Given the description of an element on the screen output the (x, y) to click on. 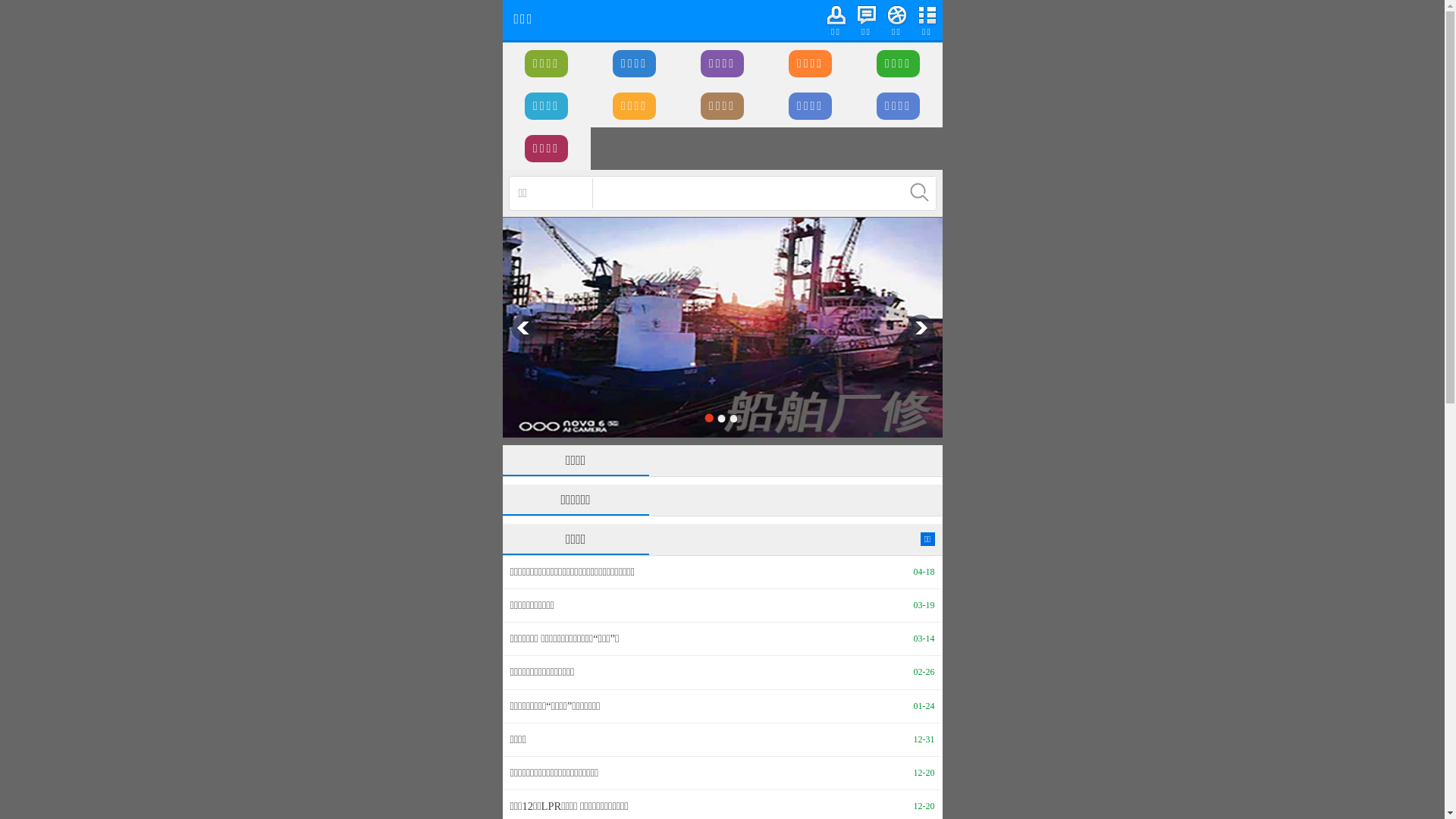
  Element type: text (919, 192)
